Given the description of an element on the screen output the (x, y) to click on. 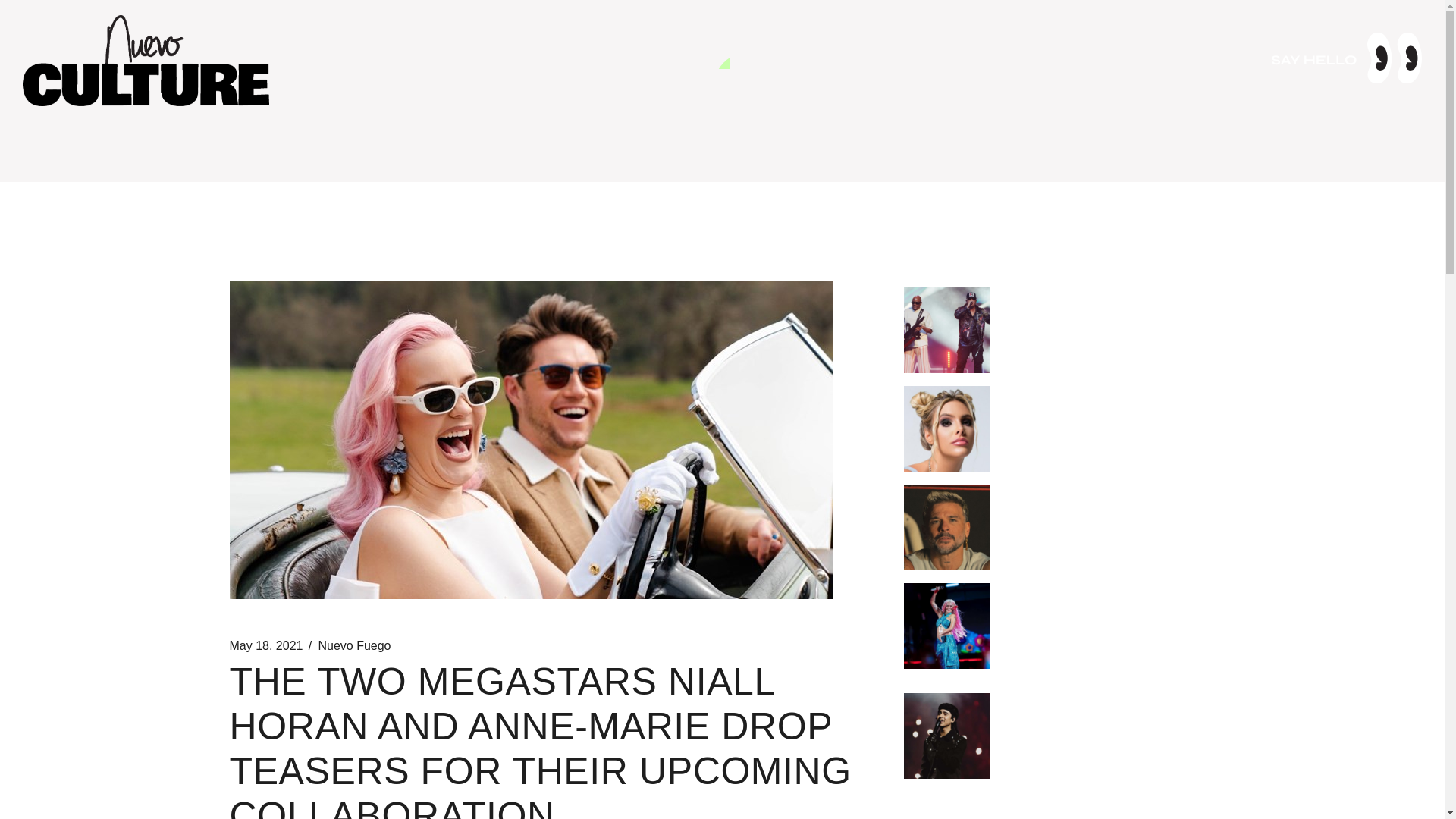
Nuevo Fuego (353, 645)
May 18, 2021 (265, 645)
